Given the description of an element on the screen output the (x, y) to click on. 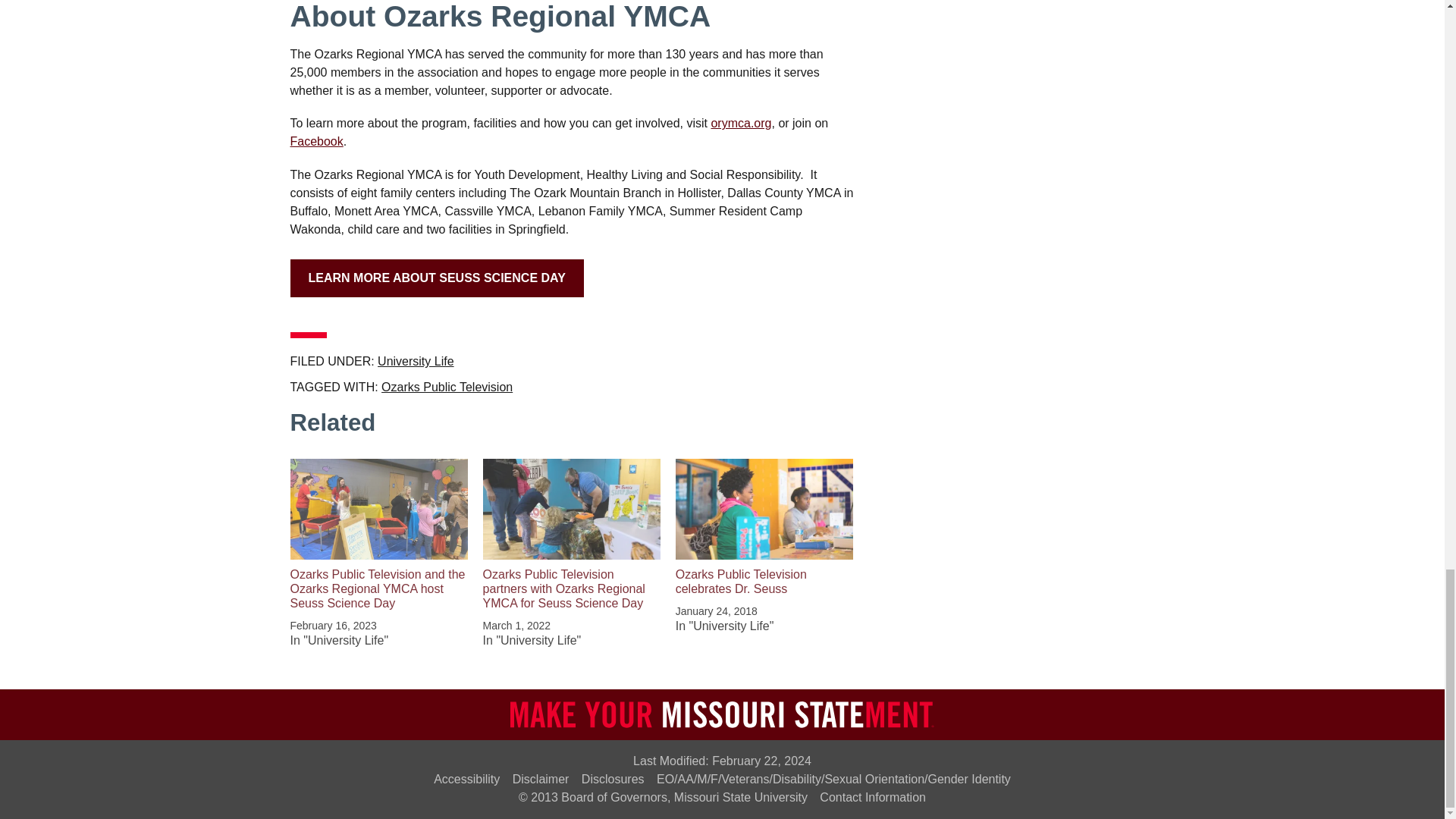
Ozarks Public Television celebrates Dr. Seuss (740, 581)
Ozarks Public Television celebrates Dr. Seuss (764, 509)
